Given the description of an element on the screen output the (x, y) to click on. 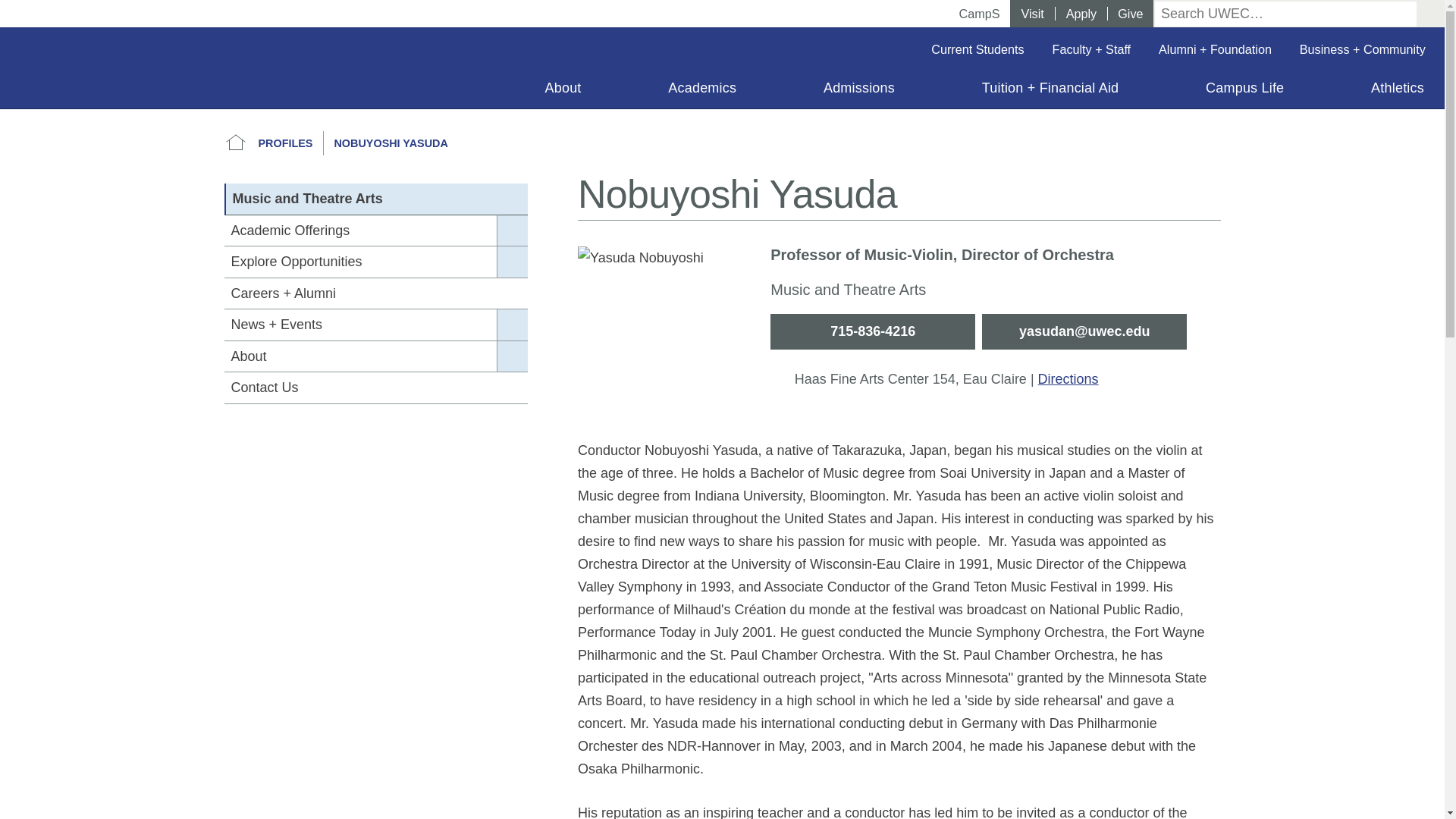
Apply (1080, 13)
MyBlugold CampS (981, 13)
Visit (1032, 13)
Canvas (938, 13)
Current Students (977, 48)
Directory (843, 13)
Academics (702, 91)
Calendar (872, 13)
Webmail (905, 13)
Give (1130, 13)
Admissions (858, 91)
Canvas (938, 13)
University of Wisconsin-Eau Claire (95, 67)
About (562, 91)
CampS (981, 13)
